Given the description of an element on the screen output the (x, y) to click on. 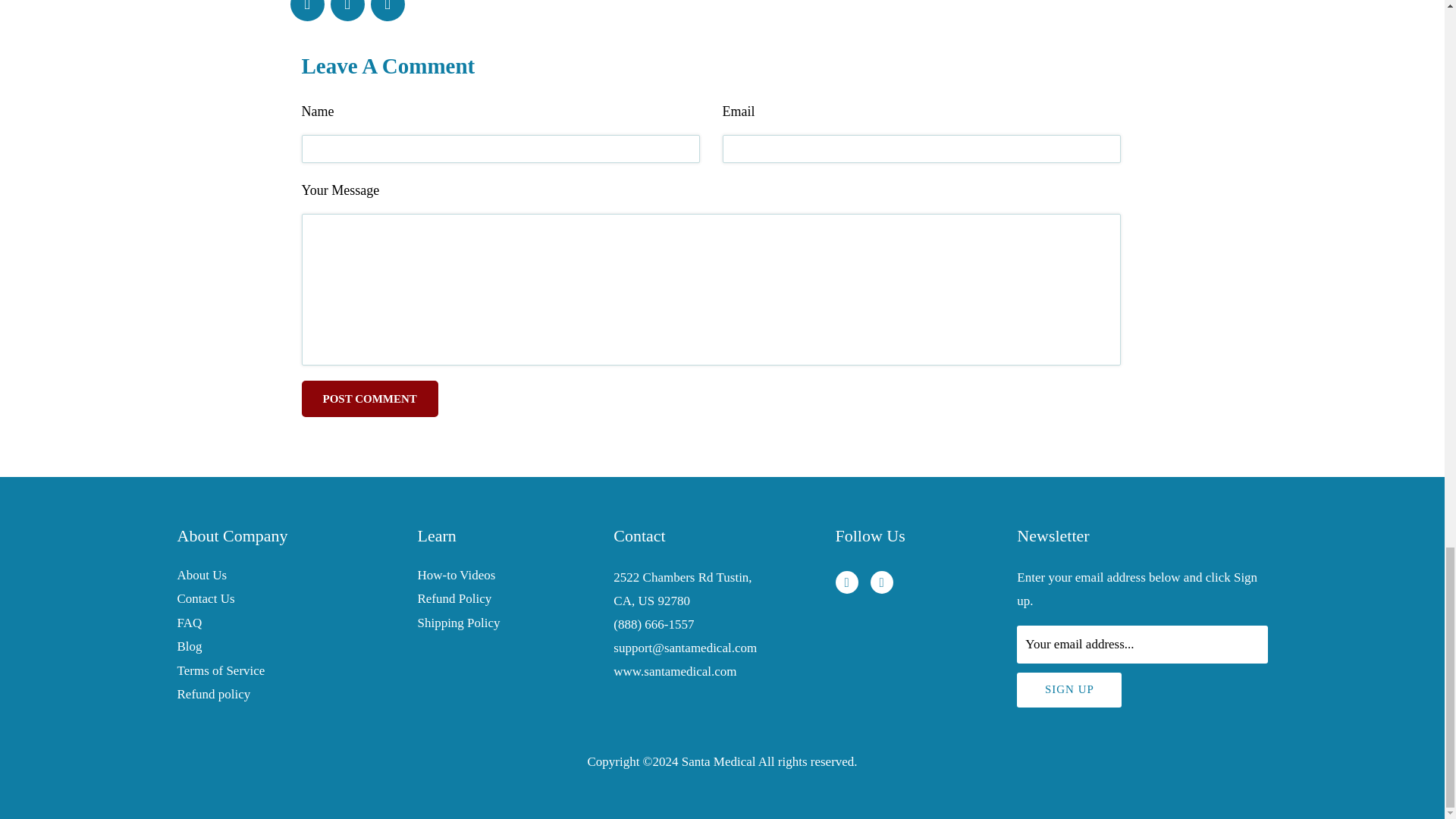
Post comment (369, 398)
